Given the description of an element on the screen output the (x, y) to click on. 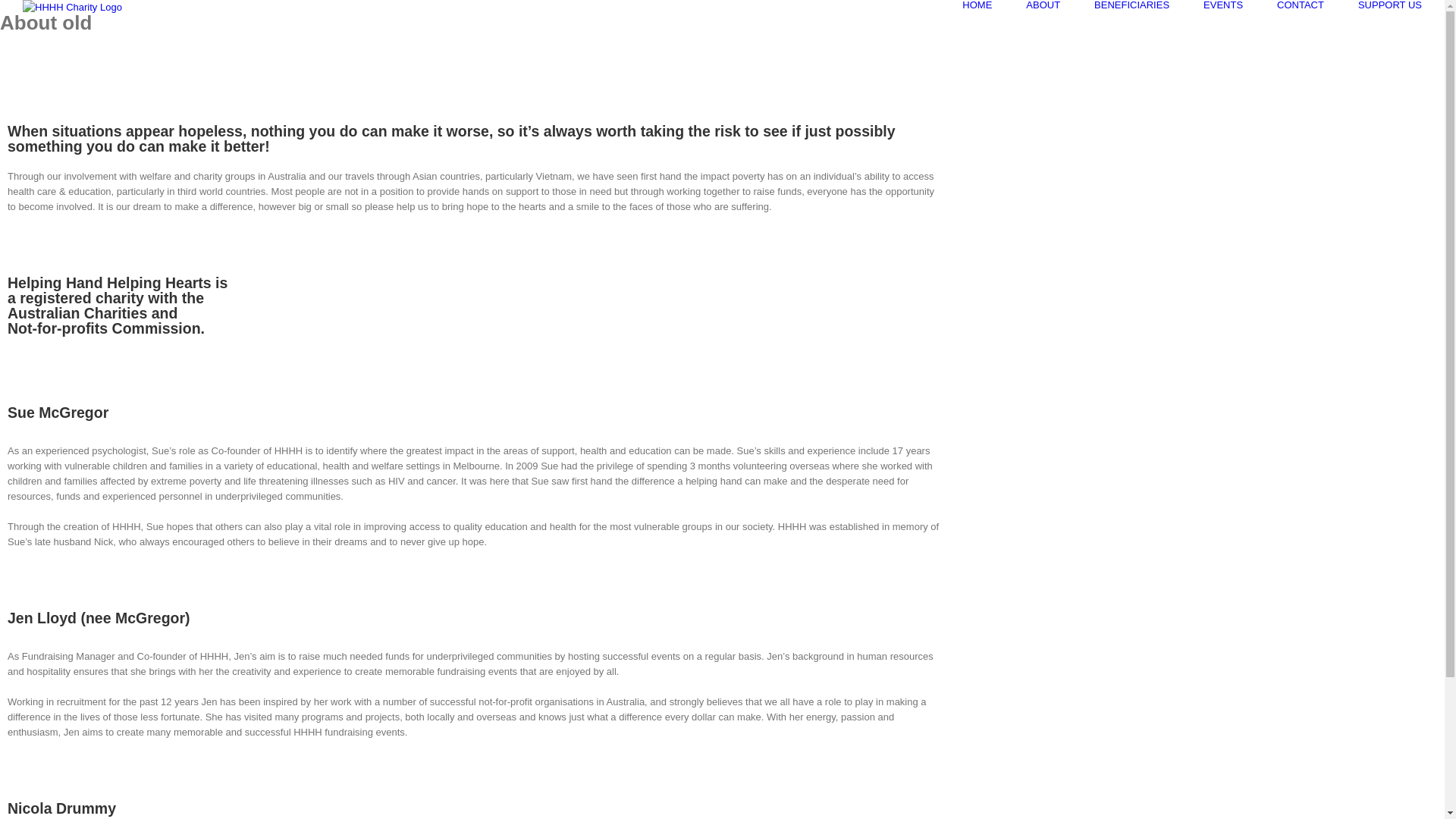
CONTACT Element type: text (1300, 4)
BENEFICIARIES Element type: text (1131, 4)
HOME Element type: text (976, 4)
ABOUT Element type: text (1043, 4)
EVENTS Element type: text (1222, 4)
SUPPORT US Element type: text (1389, 4)
